Given the description of an element on the screen output the (x, y) to click on. 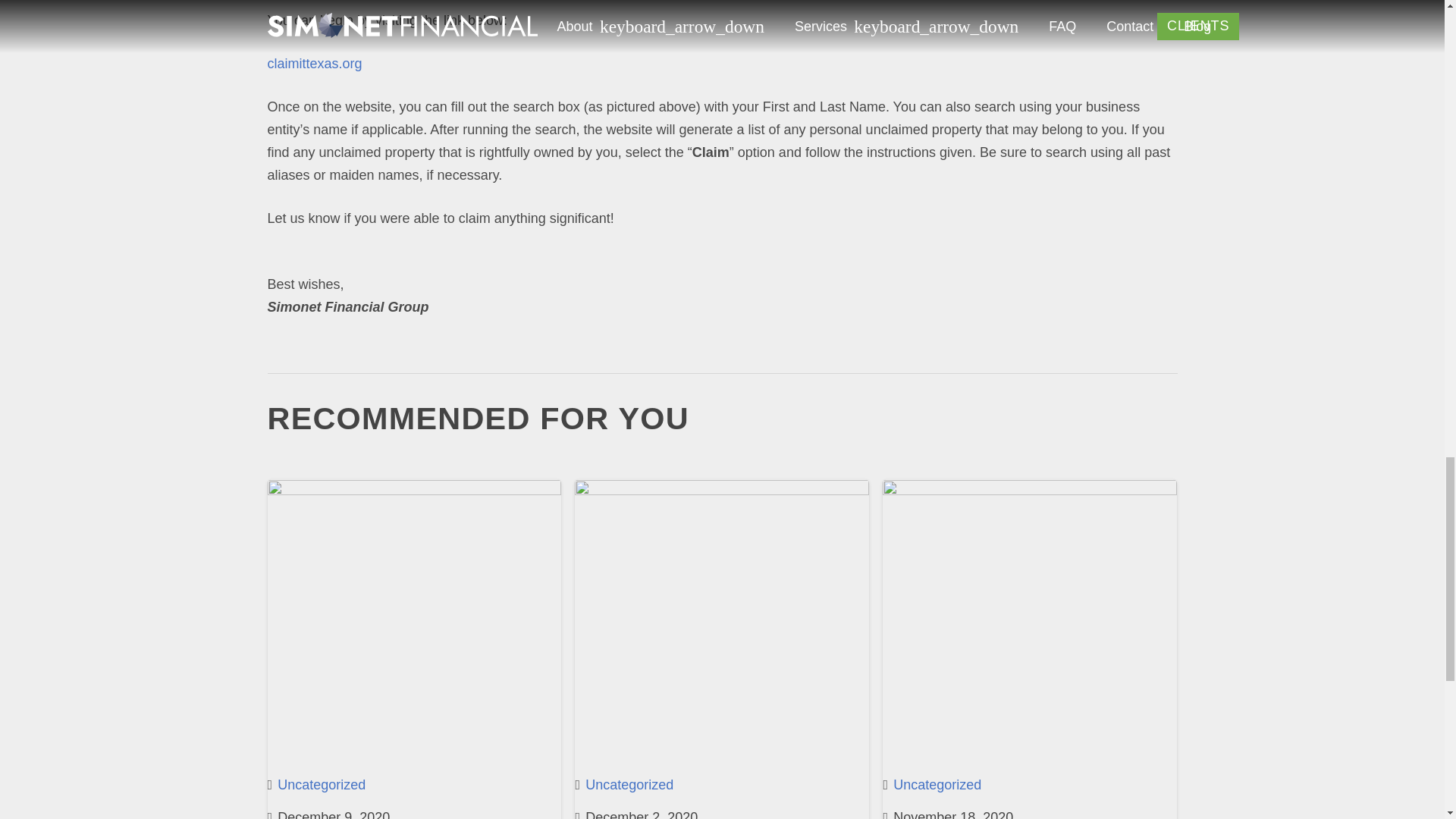
9 December 2020 at 15:16:32 -06:00 (328, 812)
Uncategorized (937, 784)
claimittexas.org (313, 63)
Uncategorized (628, 784)
18 November 2020 at 13:16:48 -06:00 (947, 812)
2 December 2020 at 12:09:03 -06:00 (636, 812)
Uncategorized (321, 784)
